Given the description of an element on the screen output the (x, y) to click on. 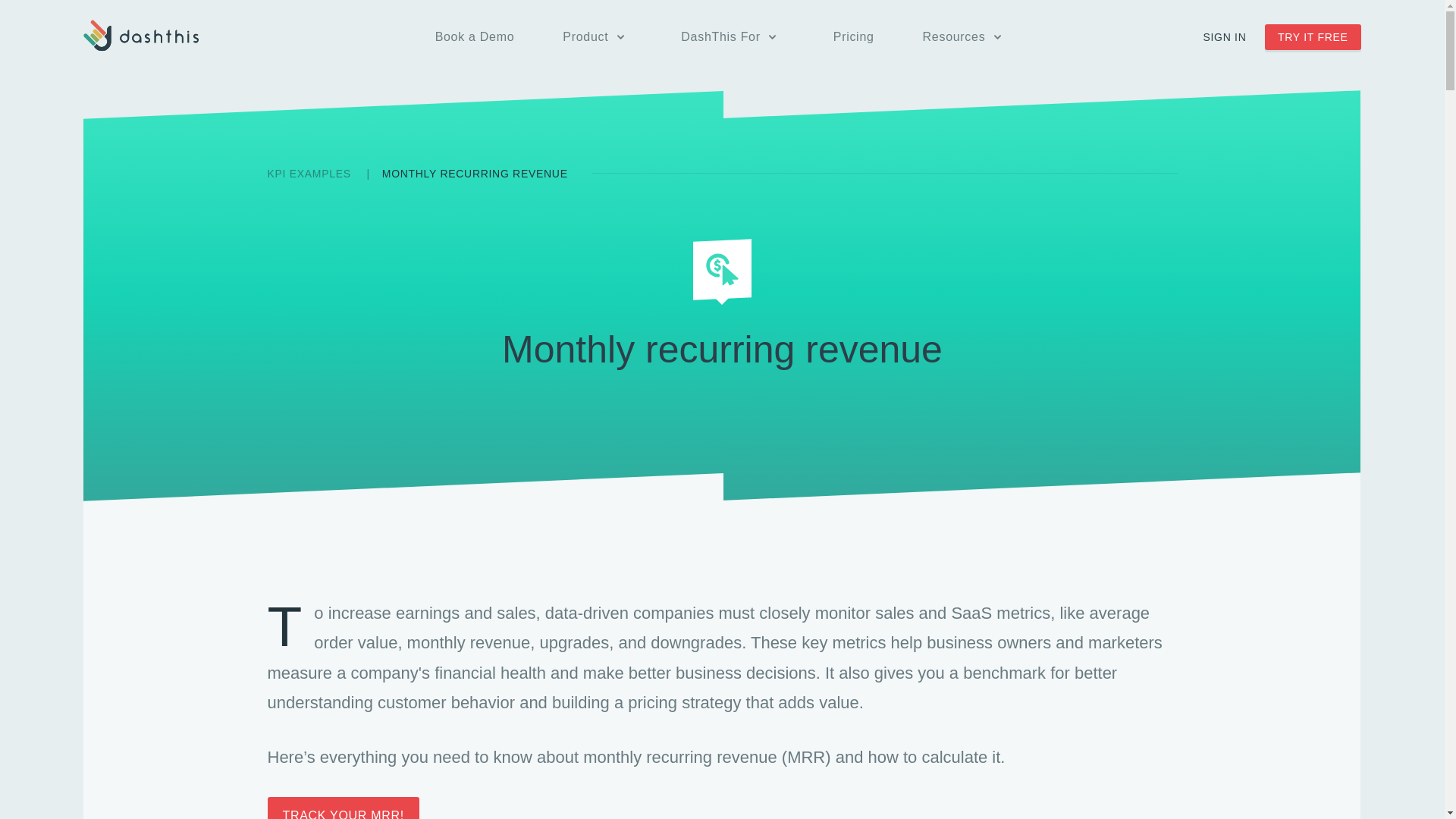
TRY IT FREE (1313, 36)
SIGN IN (1224, 37)
TRACK YOUR MRR! (342, 807)
Book a Demo (475, 37)
Pricing (853, 37)
KPI EXAMPLES (309, 173)
